Given the description of an element on the screen output the (x, y) to click on. 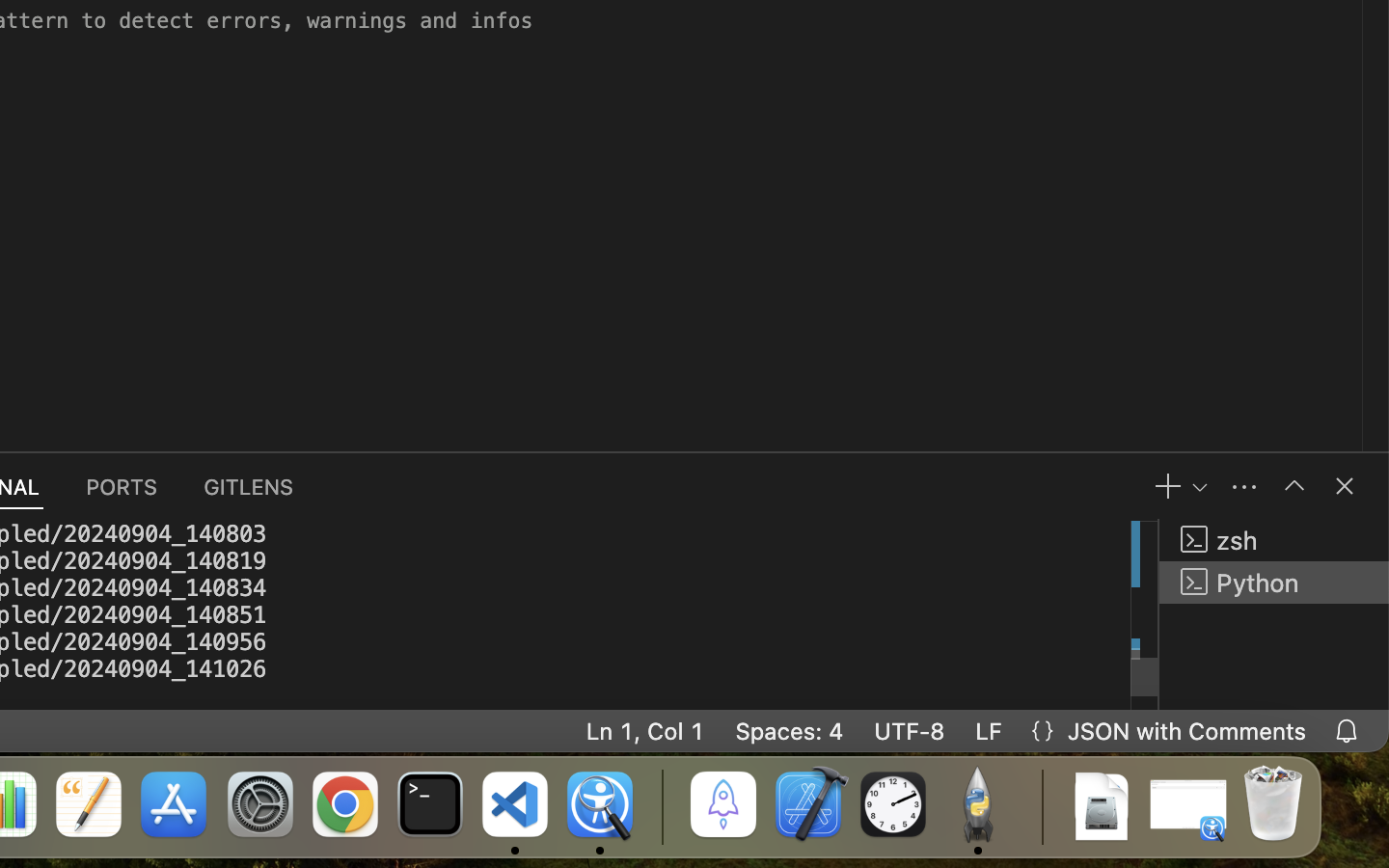
 Element type: AXButton (1344, 485)
 Element type: AXCheckBox (1294, 485)
